Given the description of an element on the screen output the (x, y) to click on. 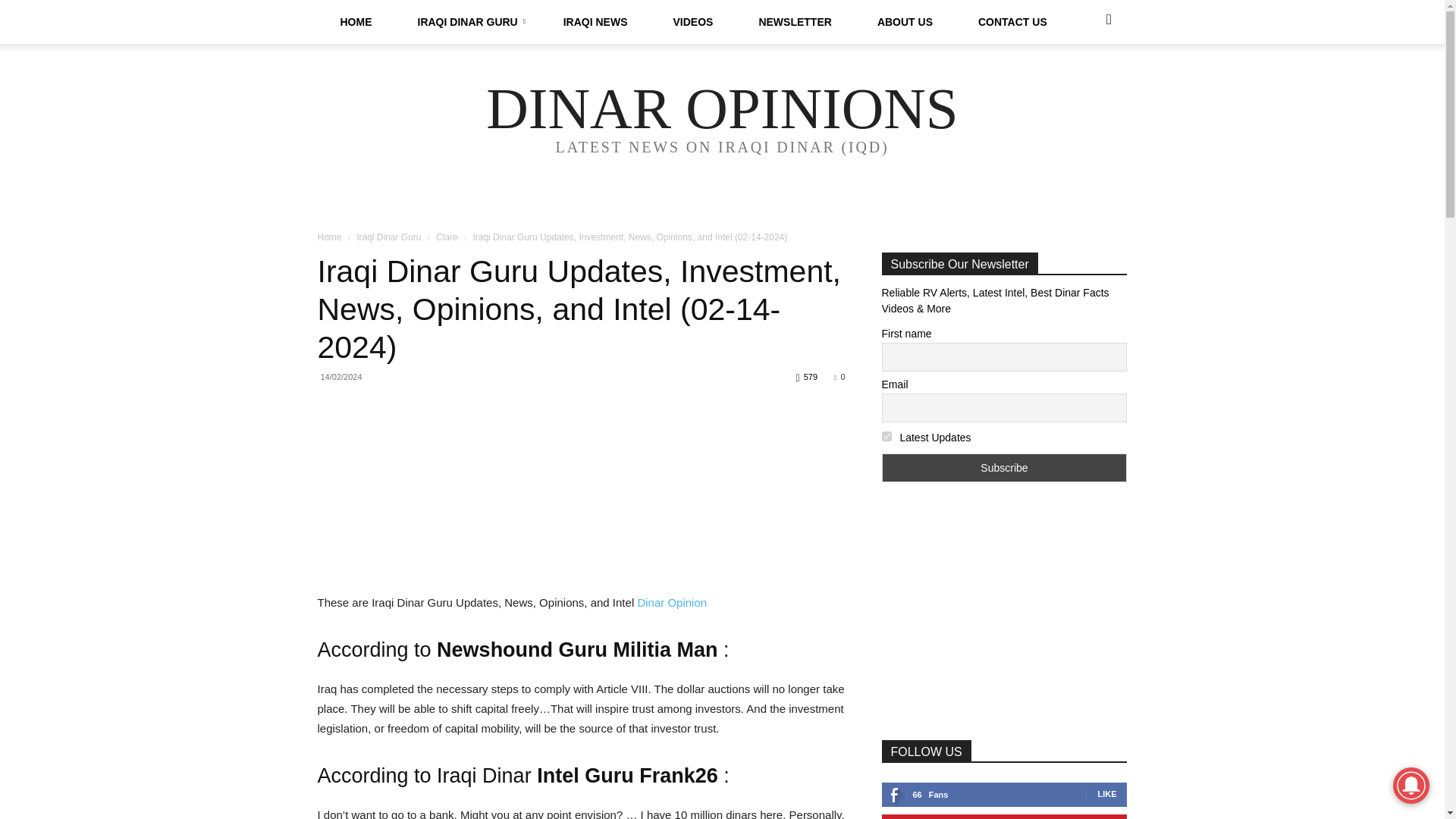
Home (328, 236)
View all posts in Iraqi Dinar Guru (388, 236)
CONTACT US (1012, 22)
Advertisement (580, 521)
VIDEOS (693, 22)
1 (885, 436)
Iraqi Dinar Guru (388, 236)
IRAQI DINAR GURU (467, 22)
HOME (355, 22)
View all posts in Clare (446, 236)
